Given the description of an element on the screen output the (x, y) to click on. 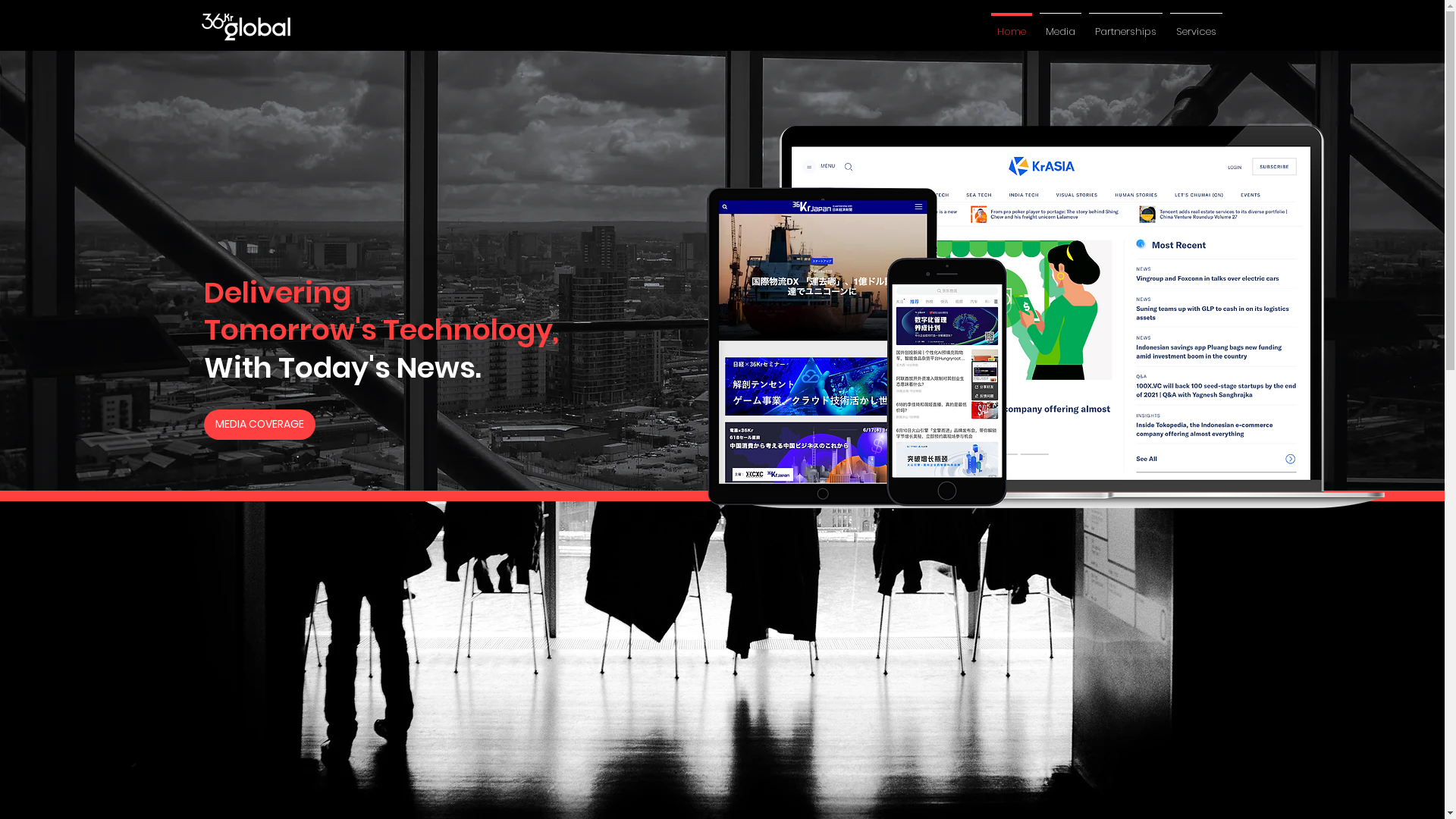
Home Element type: text (1011, 24)
Media Element type: text (1060, 24)
MEDIA COVERAGE Element type: text (259, 424)
Services Element type: text (1196, 24)
Partnerships Element type: text (1125, 24)
